Given the description of an element on the screen output the (x, y) to click on. 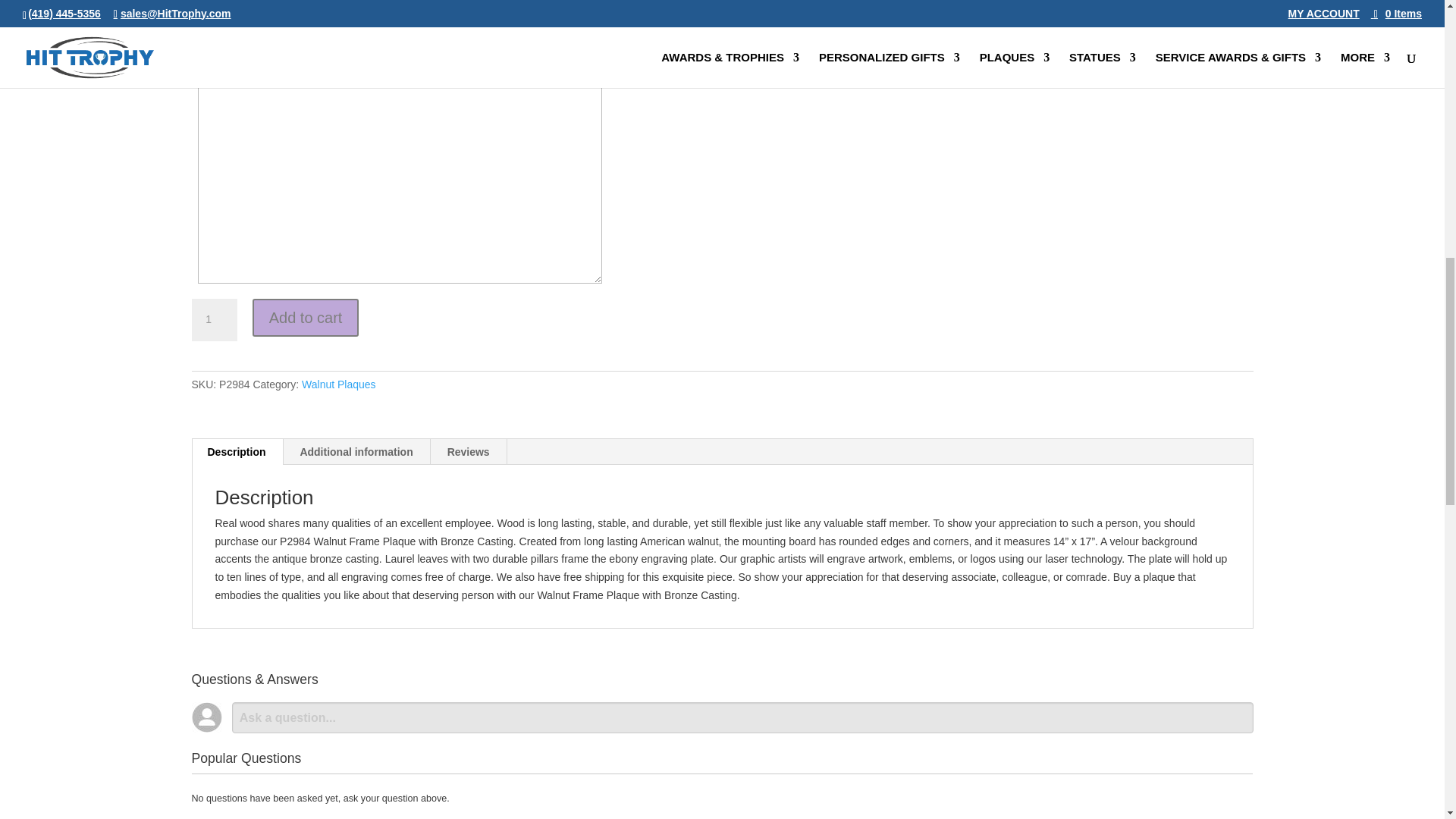
tvda7 (198, 15)
1 (212, 319)
